Given the description of an element on the screen output the (x, y) to click on. 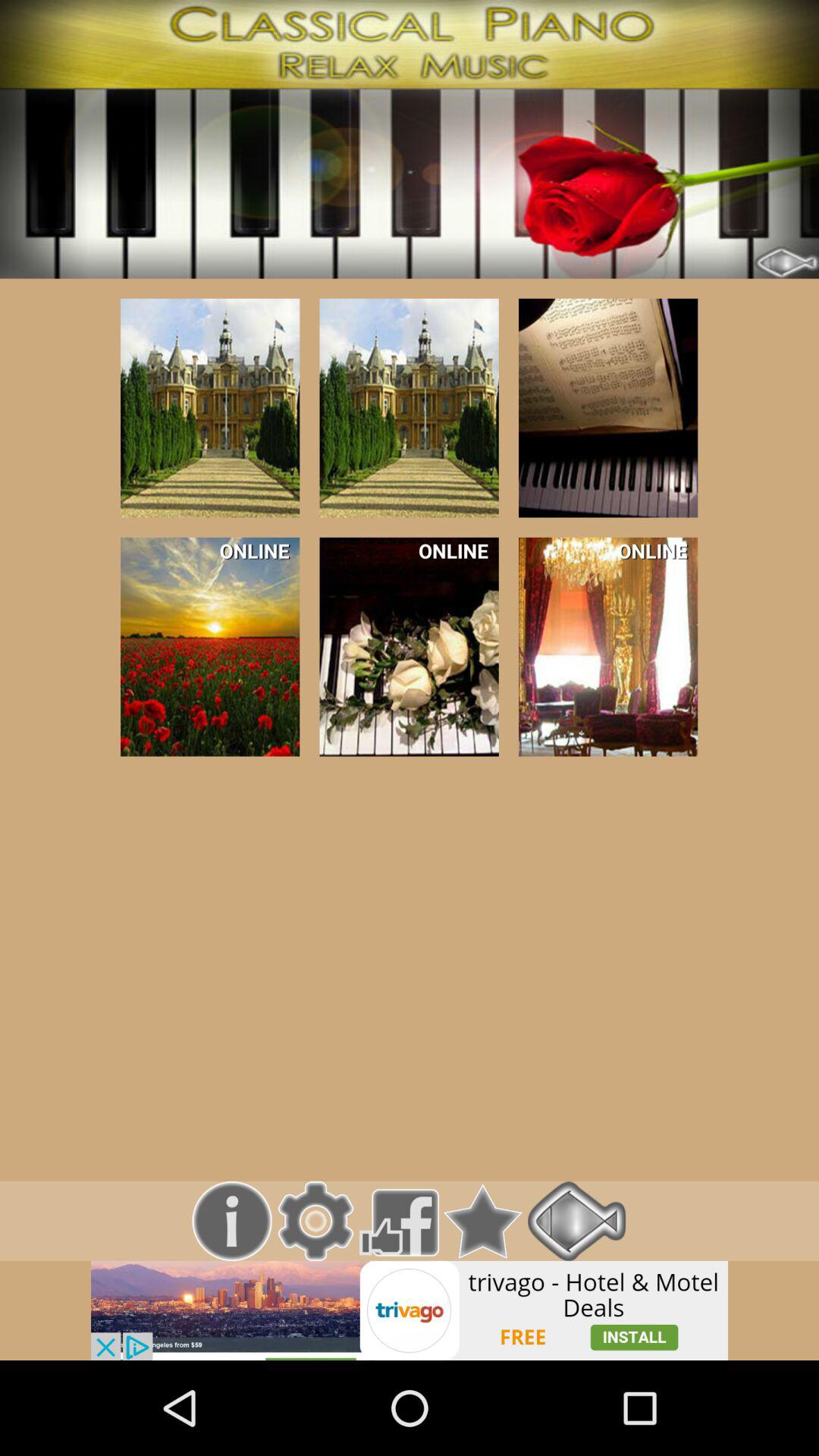
shows setting icon (315, 1220)
